Given the description of an element on the screen output the (x, y) to click on. 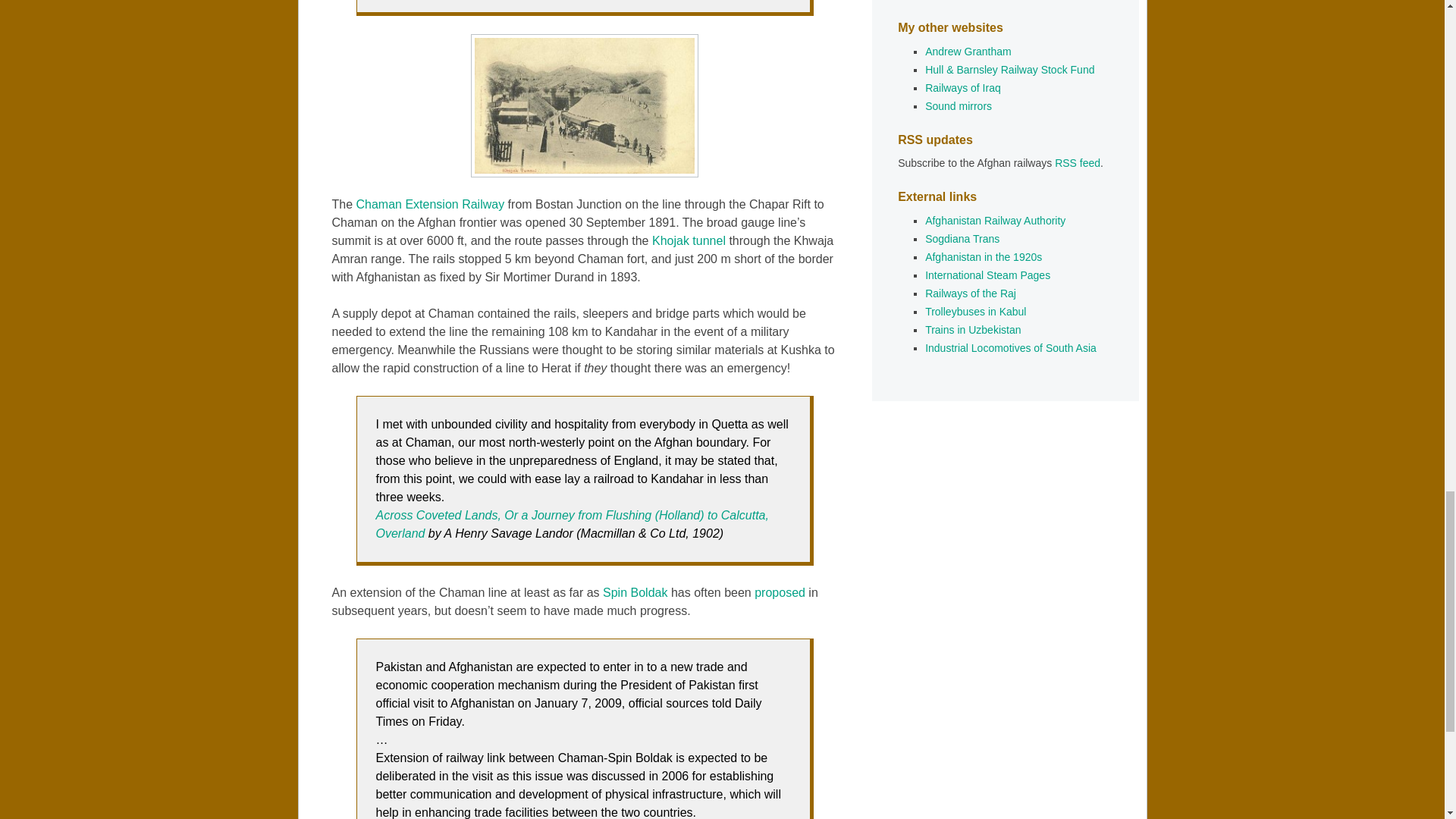
Posts about Spin Boldak (634, 592)
Spin Boldak (634, 592)
Khojak tunnel (688, 240)
Chaman Extension Railway (430, 204)
Khojak tunnel circa 1905 (584, 105)
proposed (779, 592)
